Given the description of an element on the screen output the (x, y) to click on. 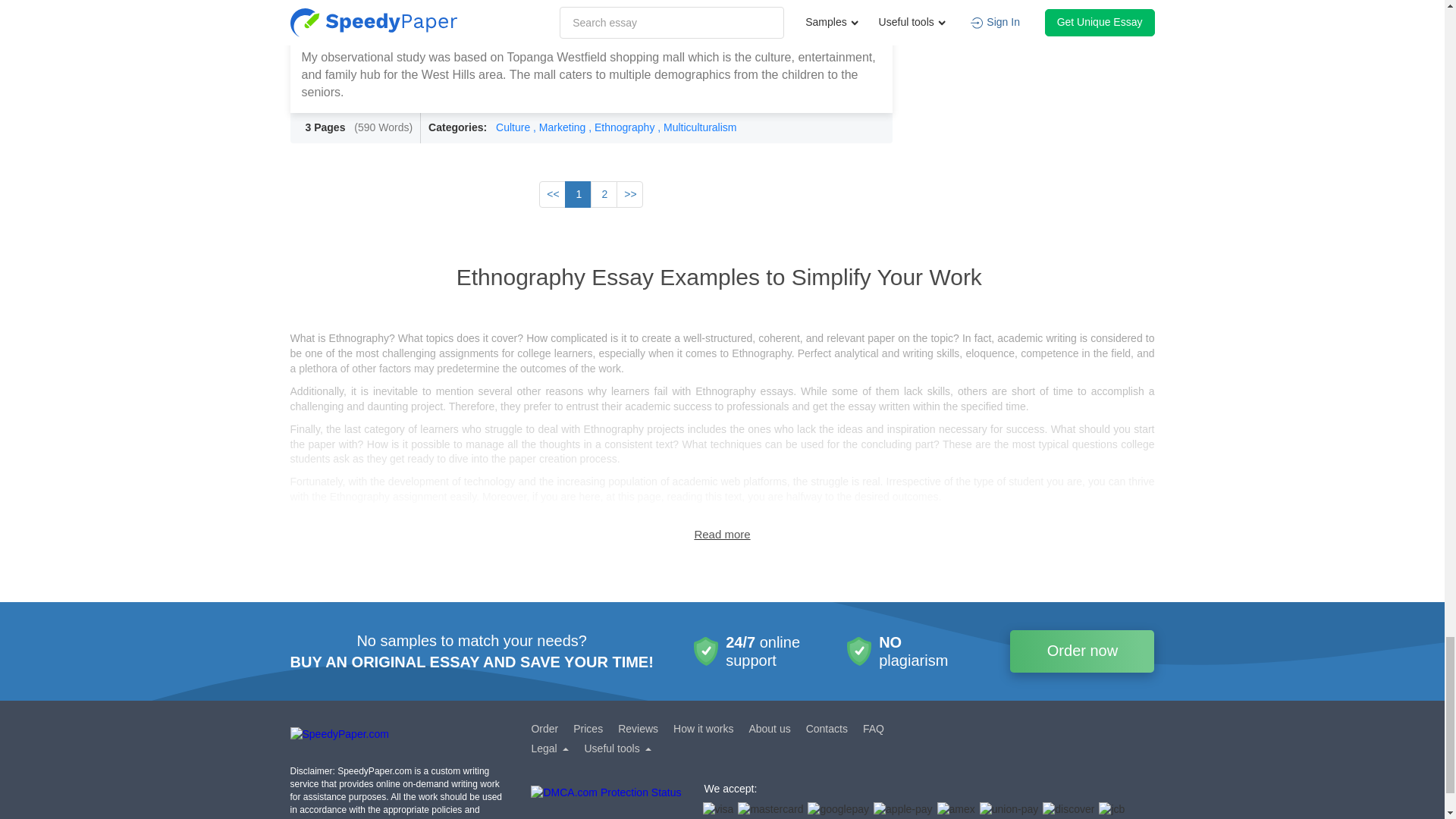
jcb (1111, 809)
mastercard (770, 809)
union-pay (1009, 809)
visa (717, 809)
current page (577, 194)
amex (956, 809)
on (721, 534)
discover (1068, 809)
DMCA.com Protection Status (606, 802)
googlepay (838, 809)
apple-pay (903, 809)
